Given the description of an element on the screen output the (x, y) to click on. 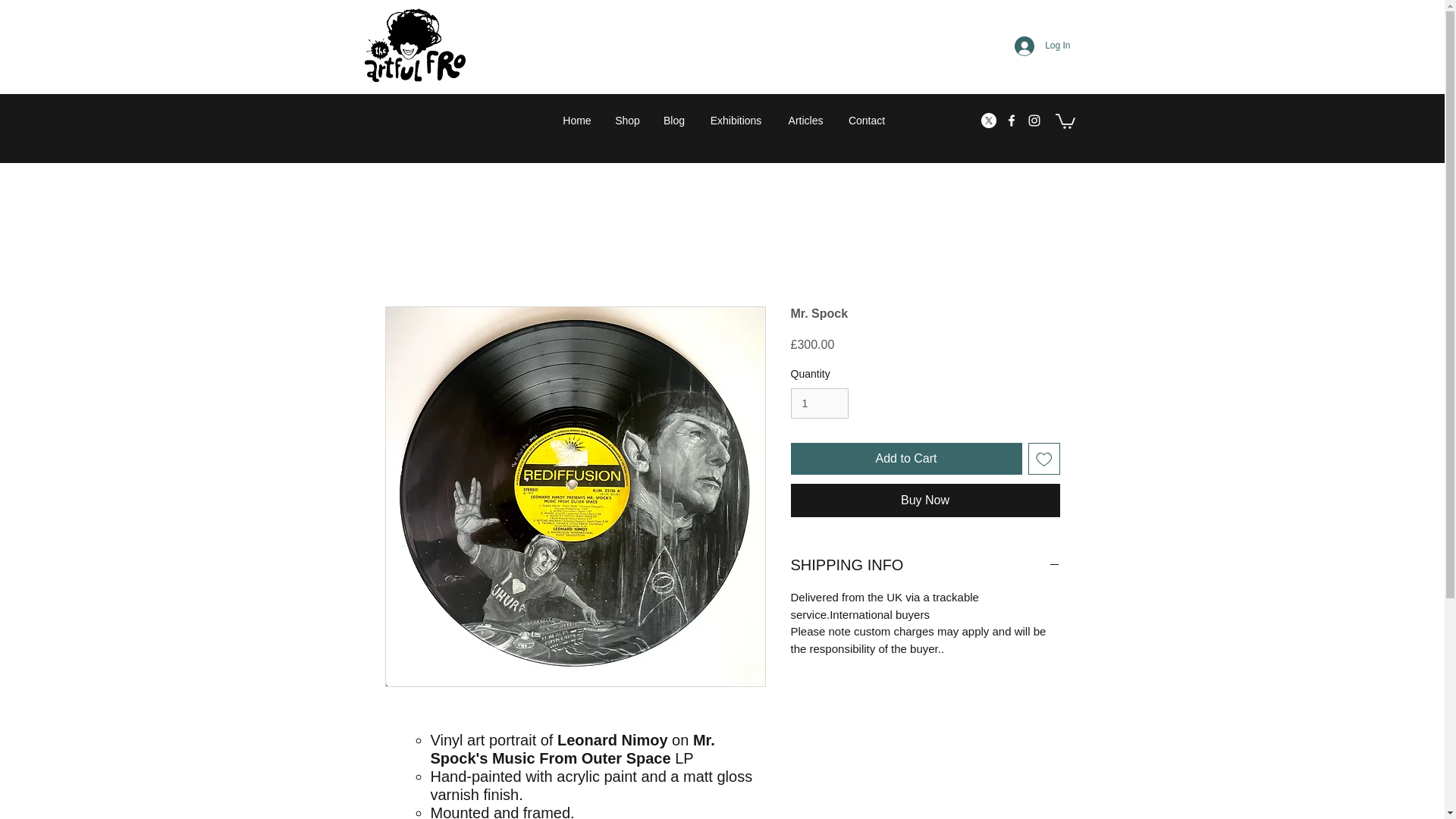
Articles (804, 119)
Shop (628, 119)
Blog (674, 119)
Exhibitions (734, 119)
Add to Cart (906, 459)
SHIPPING INFO (924, 564)
Home (576, 119)
Contact (865, 119)
Buy Now (924, 500)
1 (818, 403)
